Given the description of an element on the screen output the (x, y) to click on. 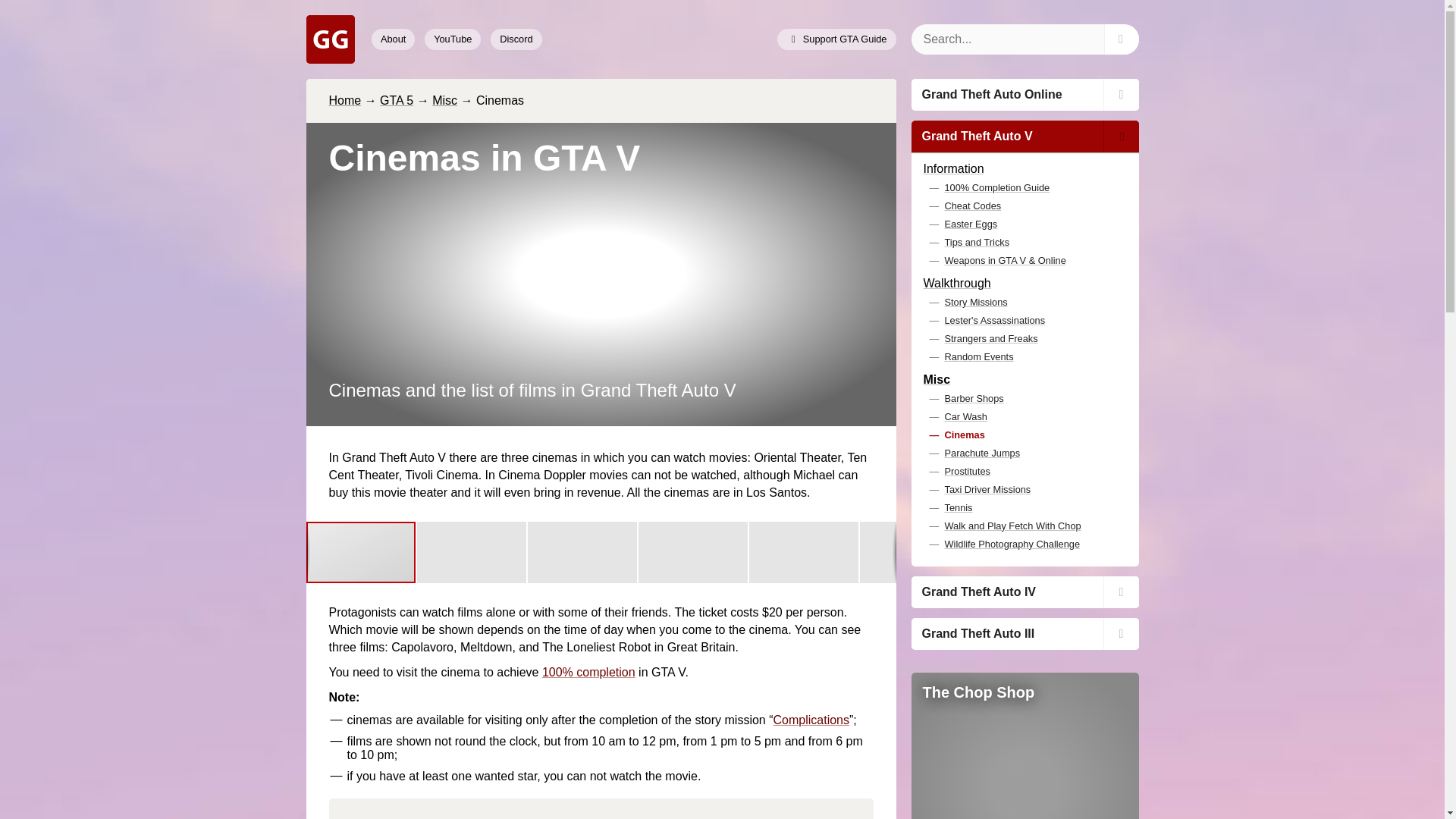
Discord (515, 38)
Complications (810, 719)
YouTube (452, 38)
Support GTA Guide (836, 38)
About (392, 38)
GTA 5 (396, 100)
Home (345, 100)
Grand Theft Auto Online (1024, 94)
Misc (444, 100)
